Given the description of an element on the screen output the (x, y) to click on. 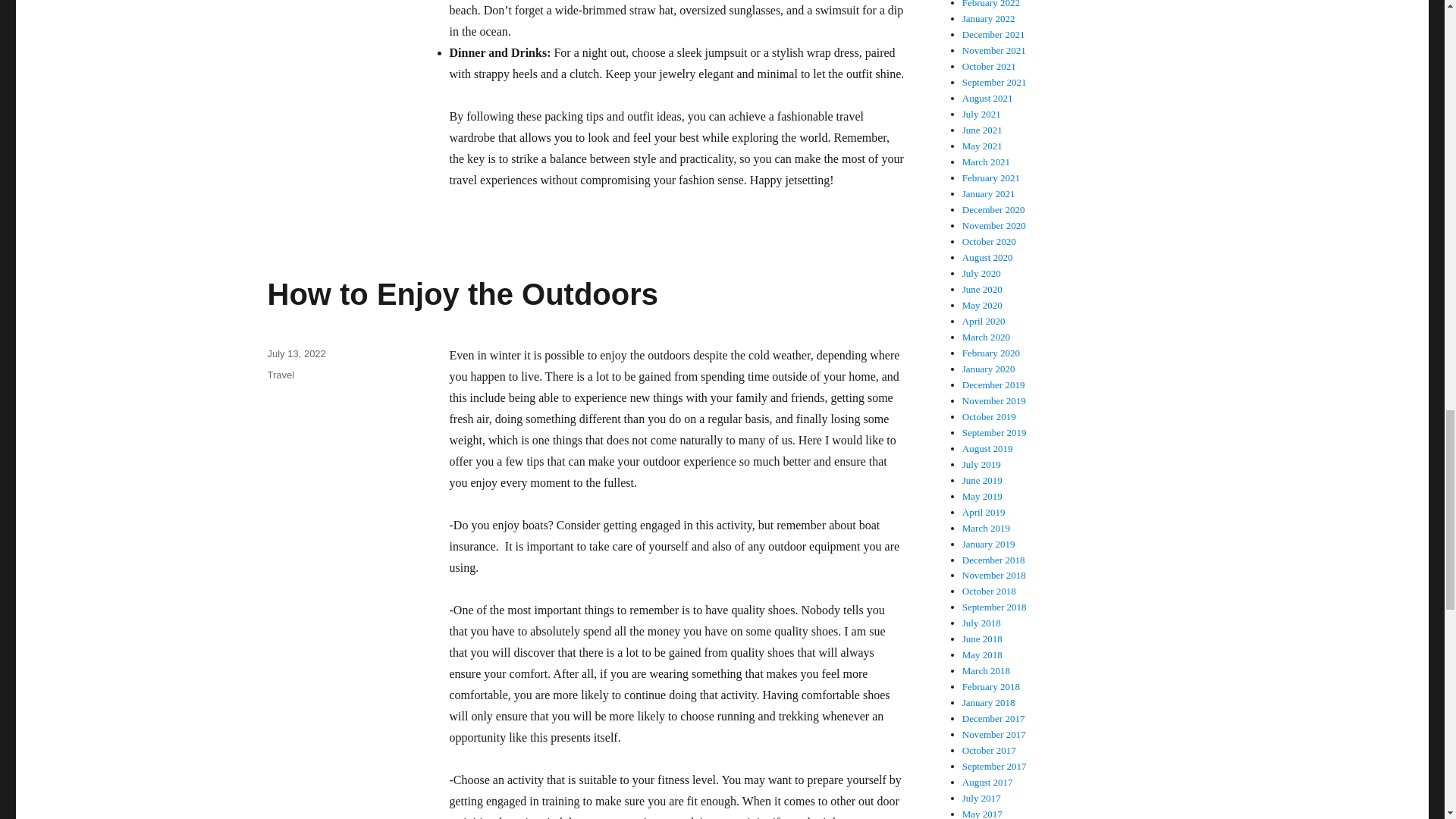
How to Enjoy the Outdoors (462, 294)
Travel (280, 374)
July 13, 2022 (295, 353)
